Given the description of an element on the screen output the (x, y) to click on. 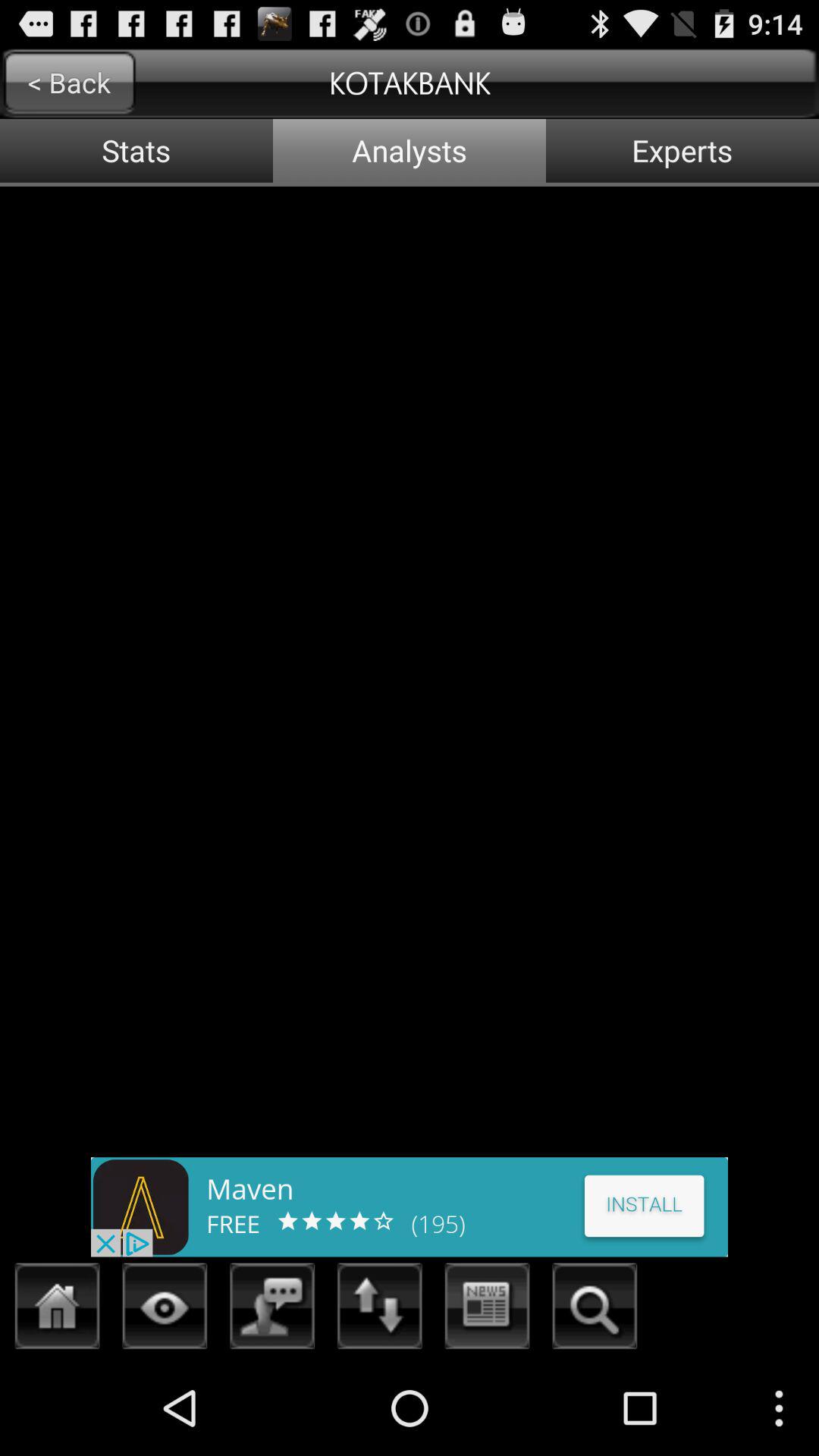
shows update infomation about app (487, 1310)
